Given the description of an element on the screen output the (x, y) to click on. 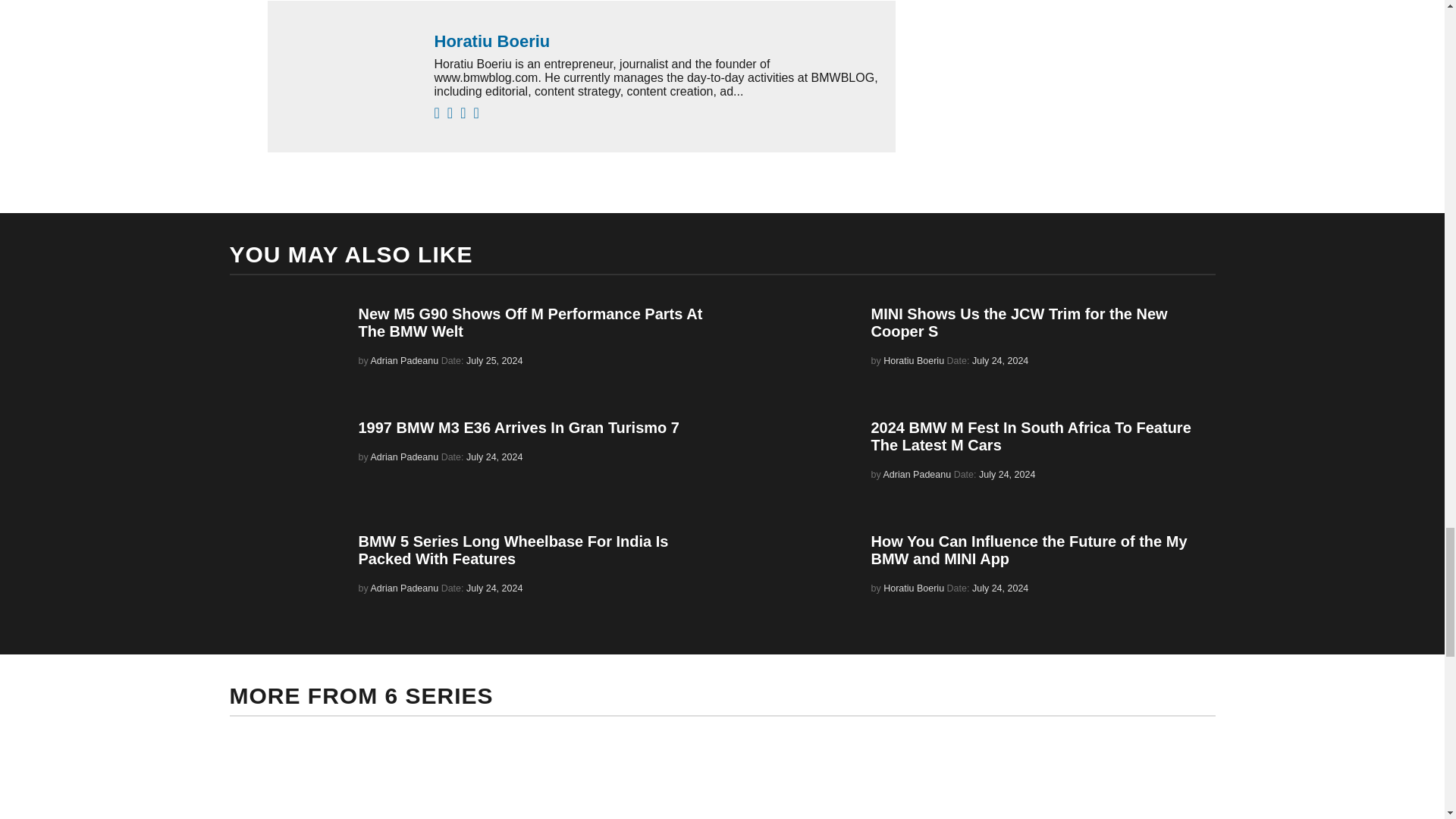
Horatiu Boeriu (656, 41)
